Given the description of an element on the screen output the (x, y) to click on. 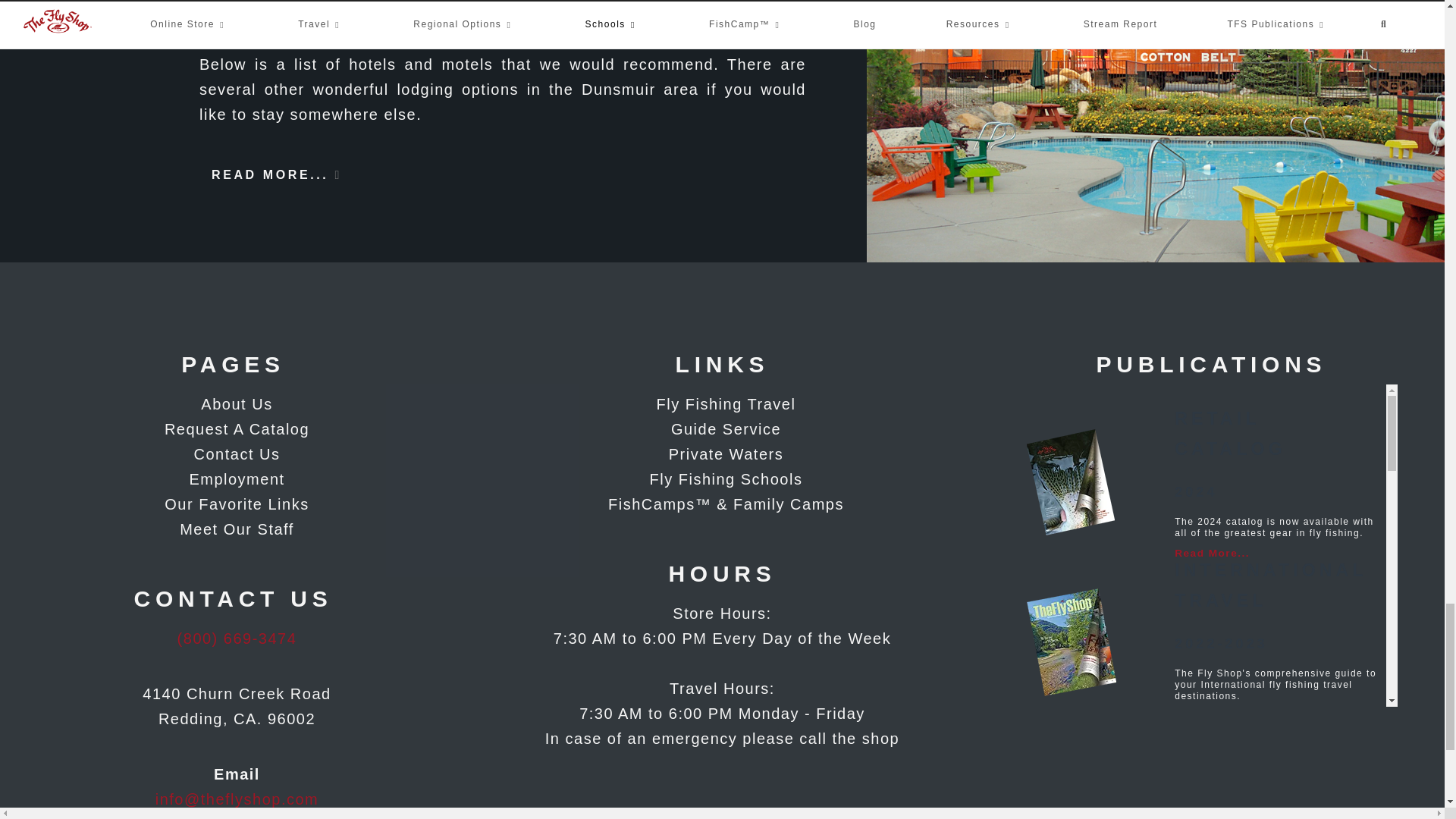
International Travel - 2022-2023 (1072, 642)
TFS page (232, 529)
Retail Catalog - 2024 (1072, 484)
TFS page (232, 479)
TFS page (232, 429)
TFS page (232, 504)
Fly Tying - 2024 Catalog (1072, 770)
TFS page (232, 454)
TFS page (232, 404)
Telephone Number (237, 638)
